Given the description of an element on the screen output the (x, y) to click on. 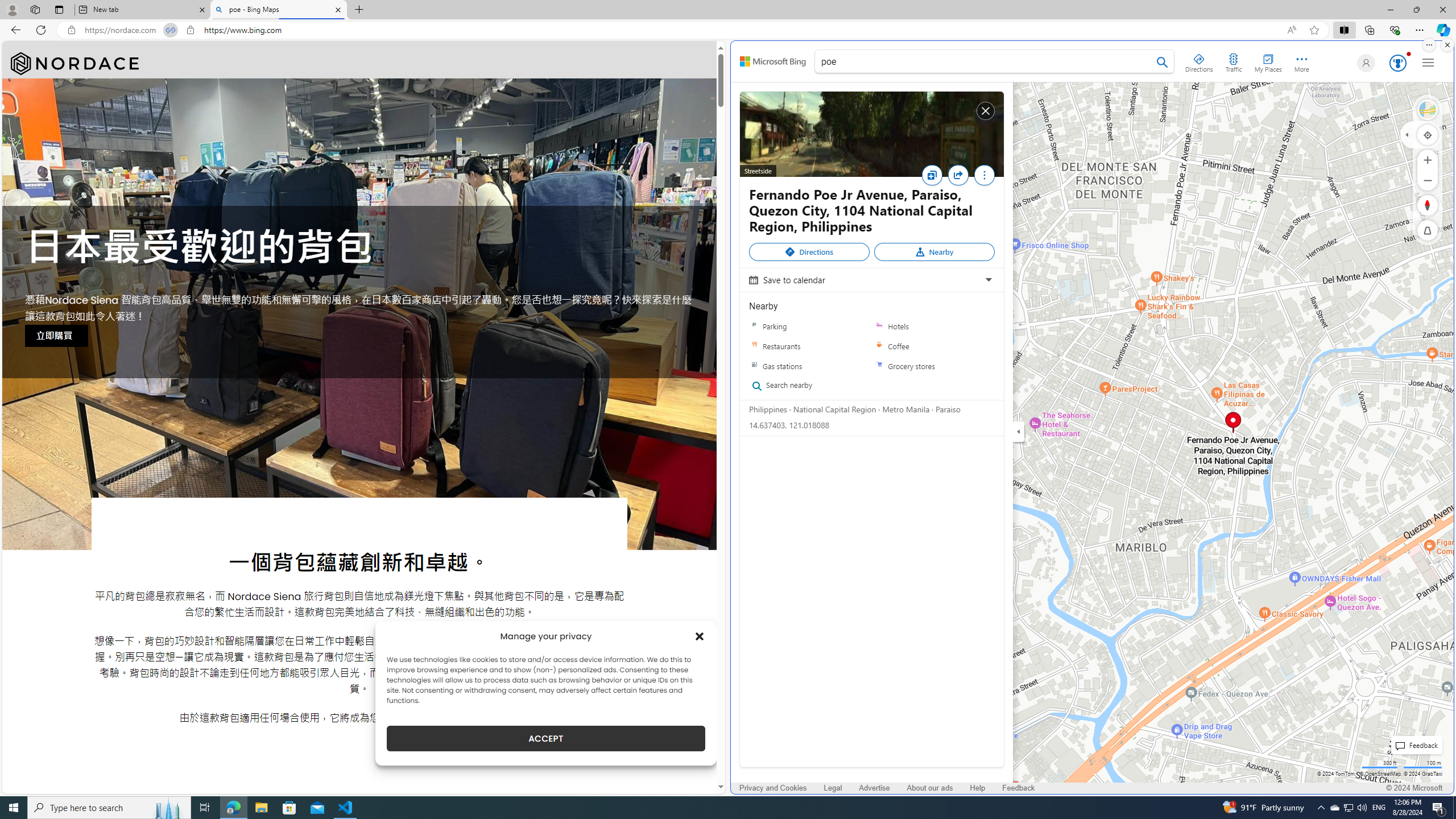
Save to calendar (869, 279)
Advertise (874, 787)
poe (994, 62)
Satellite (1427, 109)
Settings and quick links (1428, 62)
More (984, 177)
Coffee (933, 345)
